Given the description of an element on the screen output the (x, y) to click on. 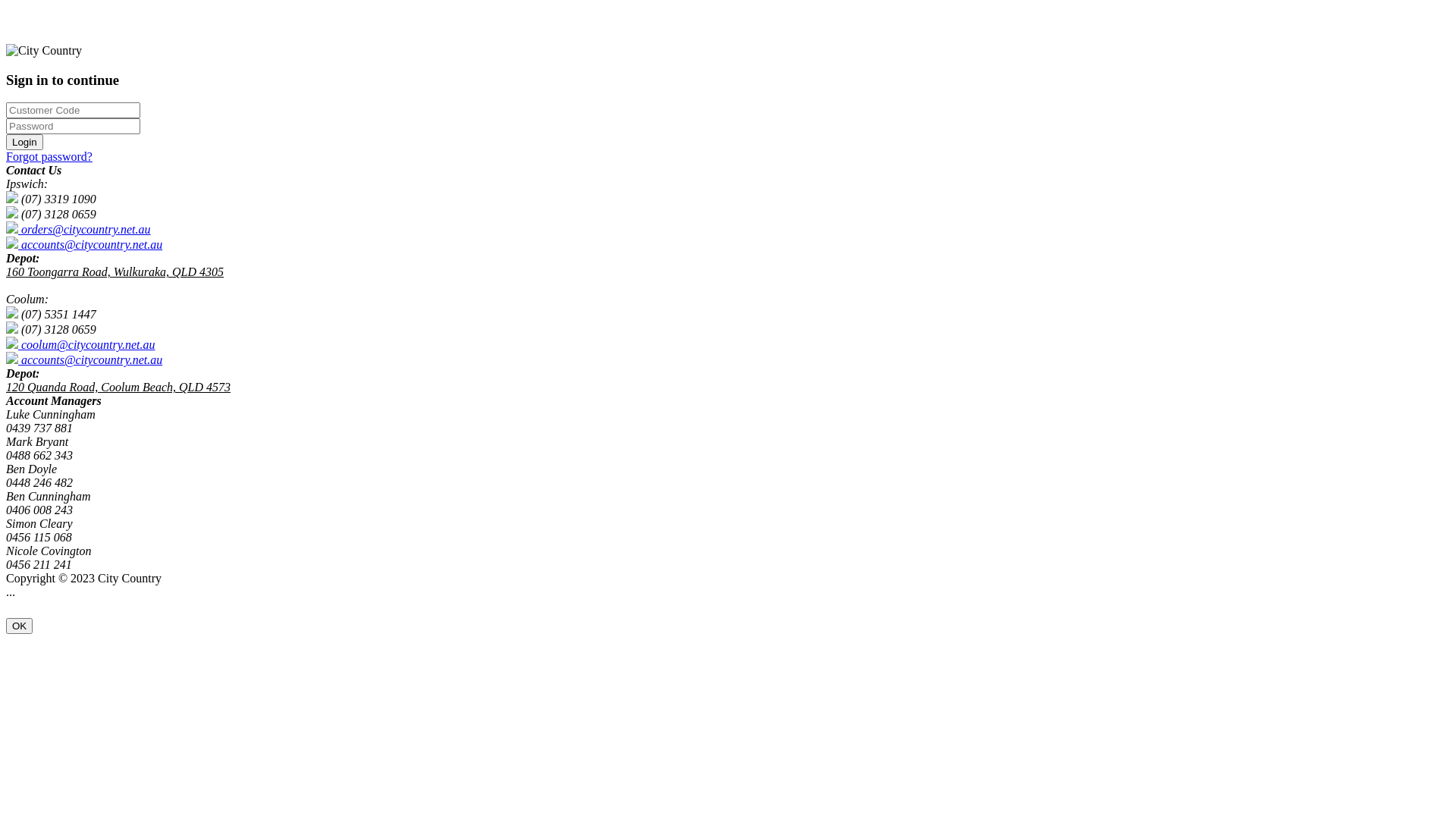
Forgot password? Element type: text (49, 156)
coolum@citycountry.net.au Element type: text (80, 344)
orders@citycountry.net.au Element type: text (78, 228)
accounts@citycountry.net.au Element type: text (84, 359)
Login Element type: text (24, 142)
OK Element type: text (19, 625)
160 Toongarra Road, Wulkuraka, QLD 4305 Element type: text (114, 271)
accounts@citycountry.net.au Element type: text (84, 244)
120 Quanda Road, Coolum Beach, QLD 4573 Element type: text (118, 386)
